Given the description of an element on the screen output the (x, y) to click on. 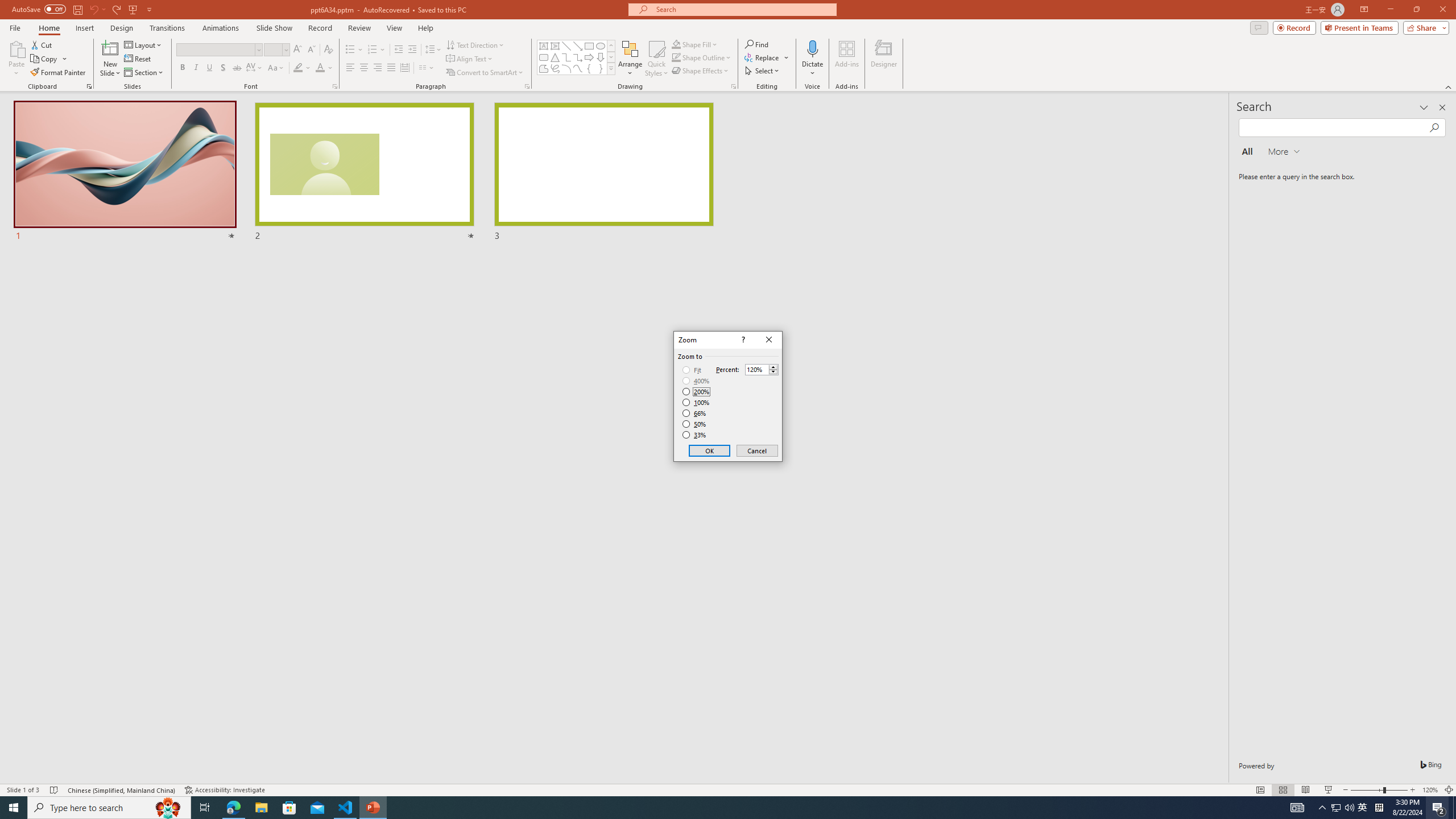
Microsoft Edge - 1 running window (233, 807)
Context help (742, 339)
200% (696, 391)
